Given the description of an element on the screen output the (x, y) to click on. 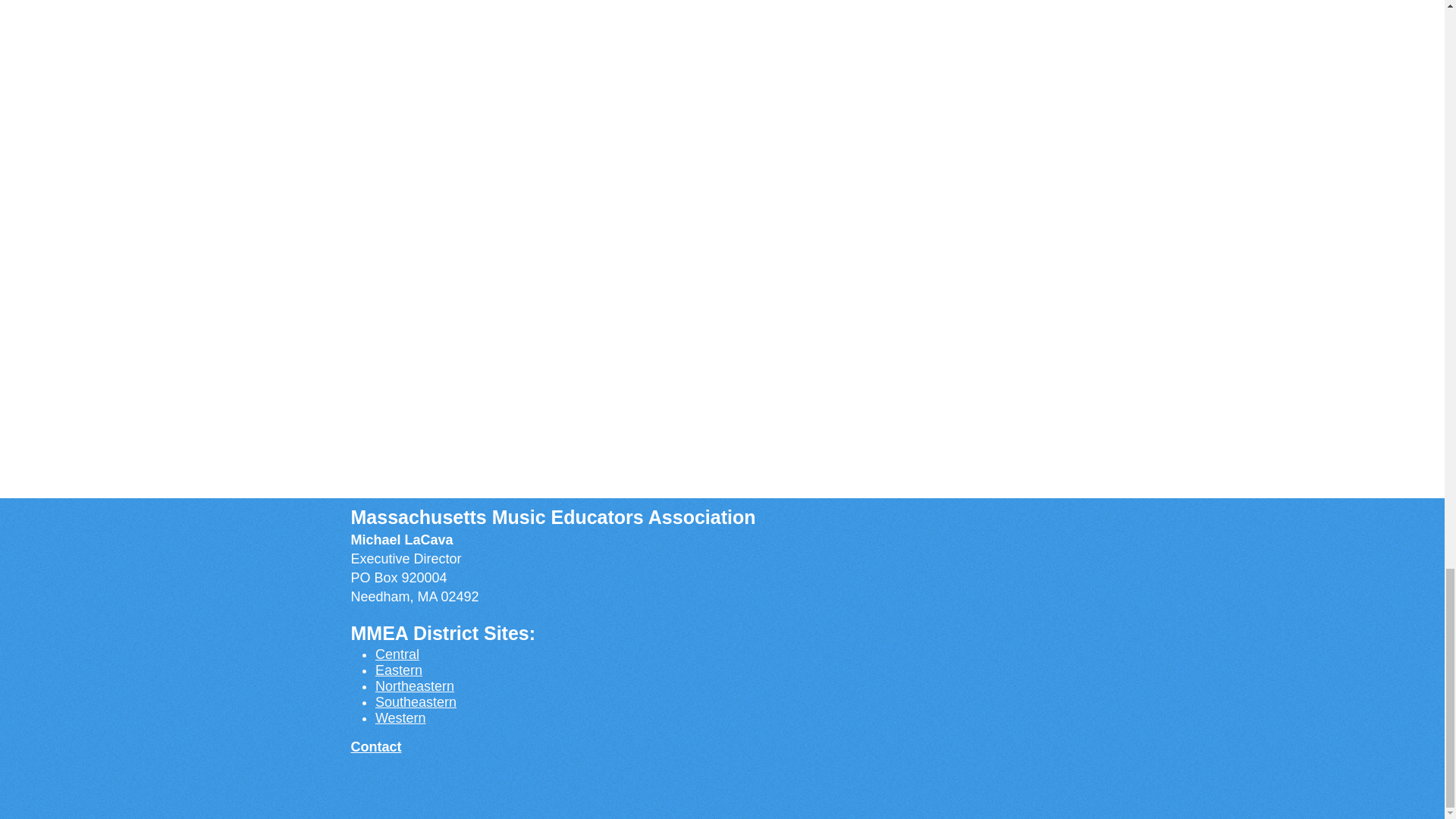
Western (400, 717)
Northeastern (414, 685)
Executive Director (405, 558)
Central (397, 654)
Southeastern (416, 702)
Eastern (398, 670)
